Given the description of an element on the screen output the (x, y) to click on. 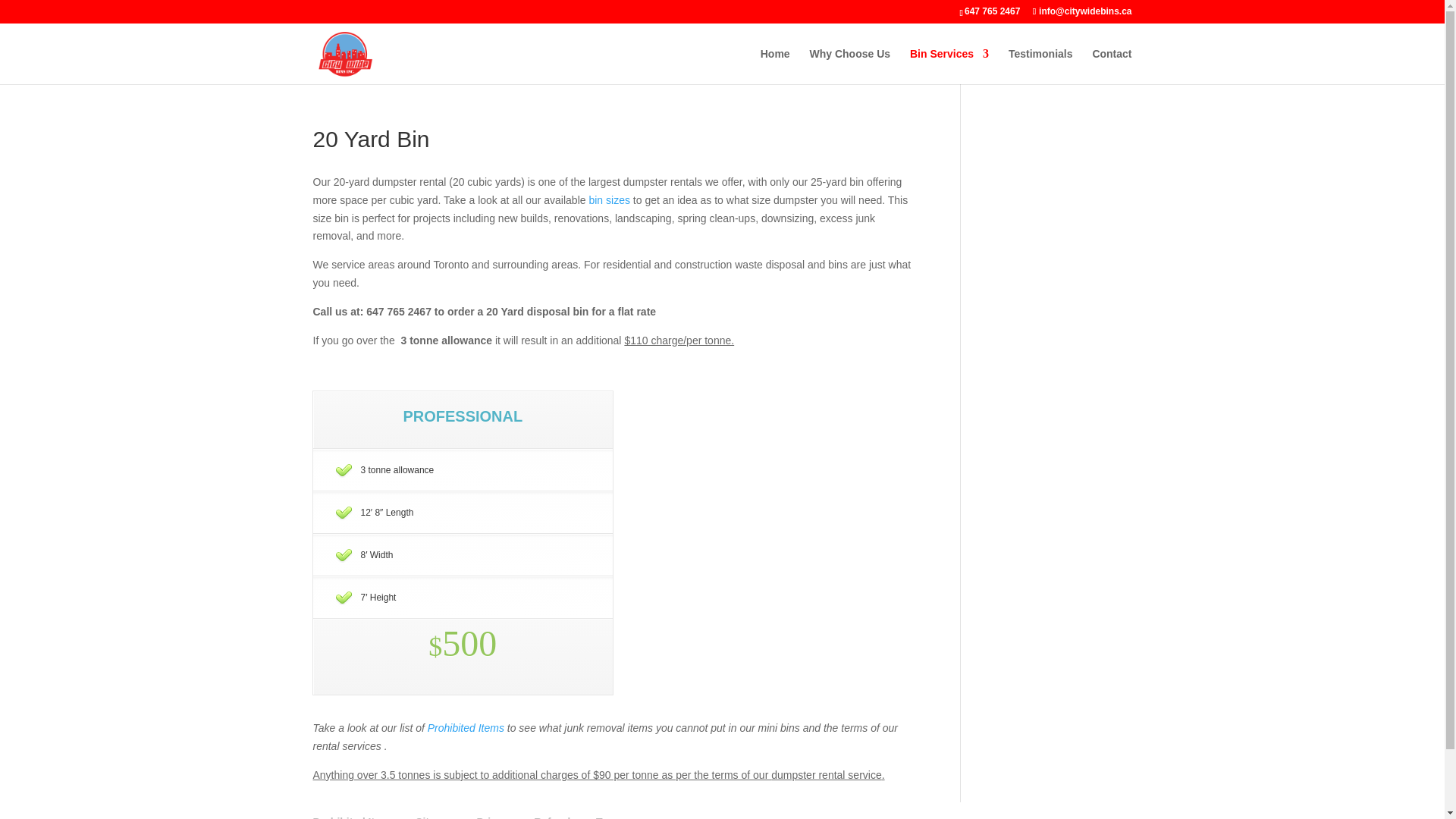
Bin Services (949, 66)
Privacy Policy (494, 817)
Why Choose Us (850, 66)
Contact (1111, 66)
Privacy (494, 817)
Prohibited Items (354, 817)
Refunds (555, 817)
Prohibited Items (465, 727)
Sitemap (435, 817)
bin sizes (608, 200)
Terms (611, 817)
Testimonials (1041, 66)
Prohibited Items (465, 727)
